Given the description of an element on the screen output the (x, y) to click on. 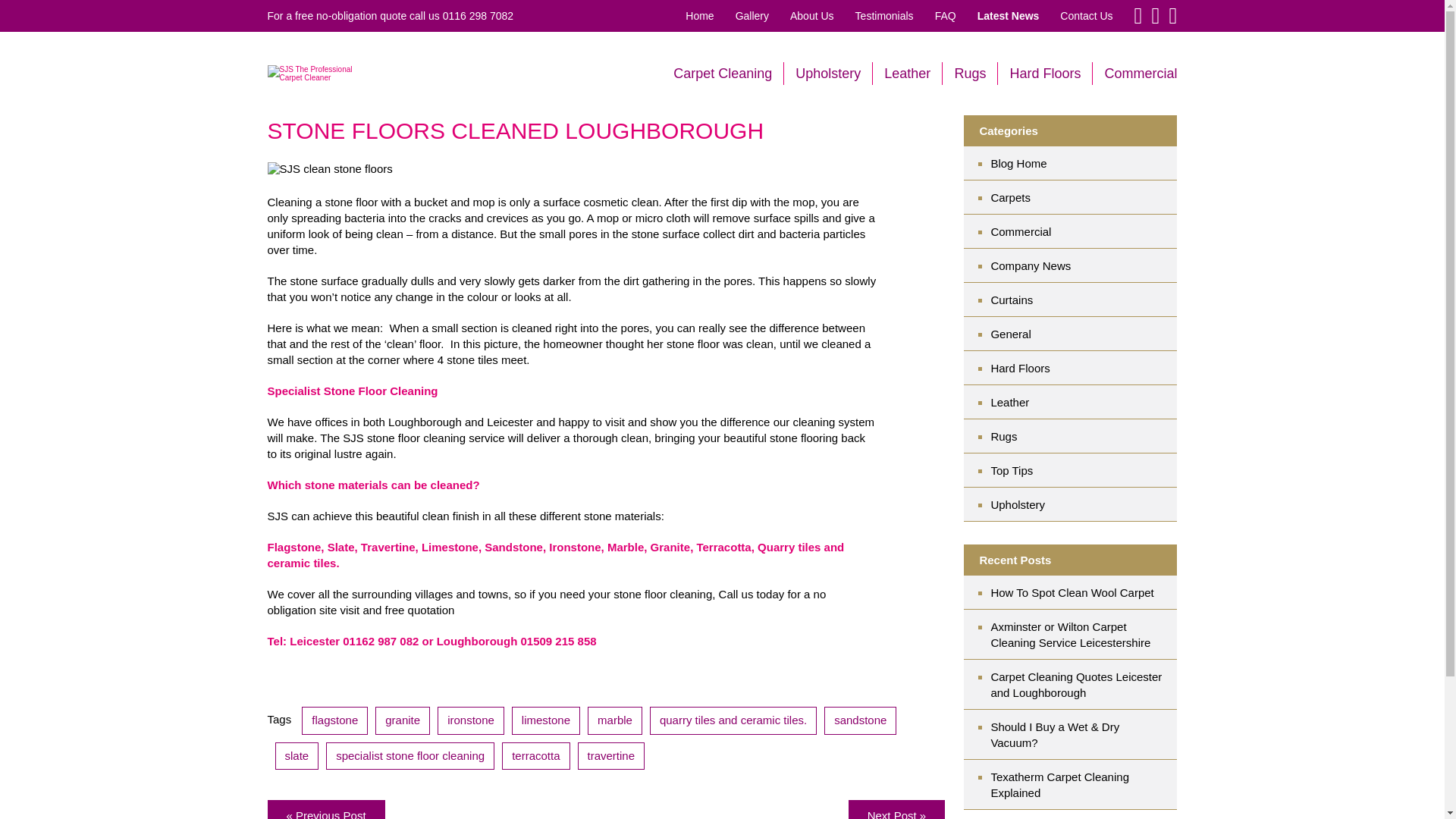
Commercial (1139, 73)
Carpet Cleaning (721, 73)
specialist stone floor cleaning (410, 755)
marble (615, 720)
travertine (611, 755)
slate (296, 755)
granite (402, 720)
Upholstery (827, 73)
About Us (812, 15)
Commercial (1083, 231)
Rugs (969, 73)
Gallery (751, 15)
terracotta (535, 755)
Testimonials (885, 15)
Latest News (1007, 15)
